Given the description of an element on the screen output the (x, y) to click on. 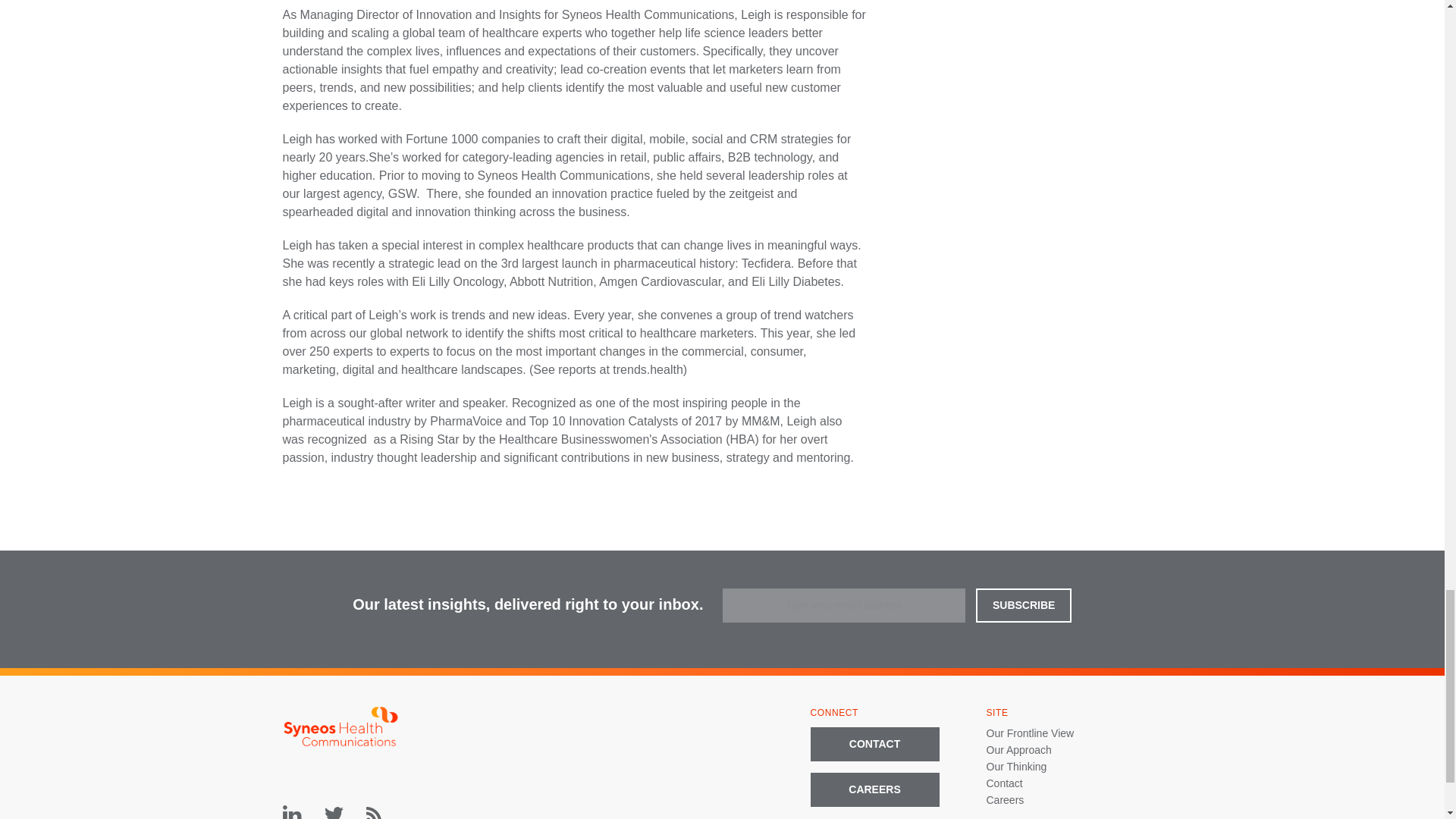
Our Frontline View (1029, 733)
Our Thinking (1015, 766)
SUBSCRIBE (1023, 605)
CAREERS (874, 789)
Our Approach (1018, 749)
CONTACT (874, 744)
